Given the description of an element on the screen output the (x, y) to click on. 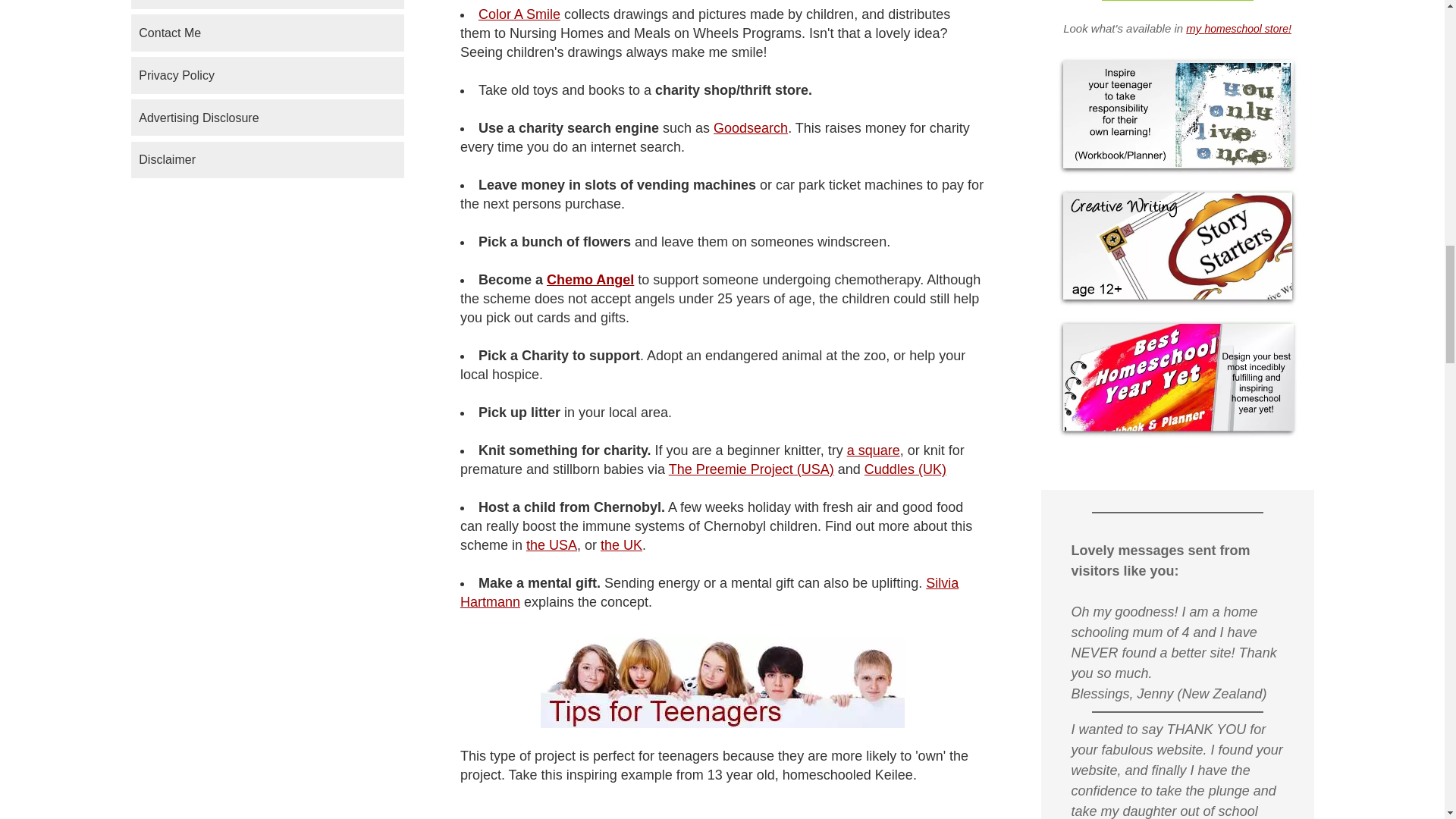
Go to Have your Best Homeschool Year yet! (1177, 433)
Go to Story Starters Creative Writing ebook (1177, 302)
Color A Smile (519, 14)
Goodsearch (750, 127)
Go to Homeschool Teenager Workbook and Planner (1177, 171)
